Given the description of an element on the screen output the (x, y) to click on. 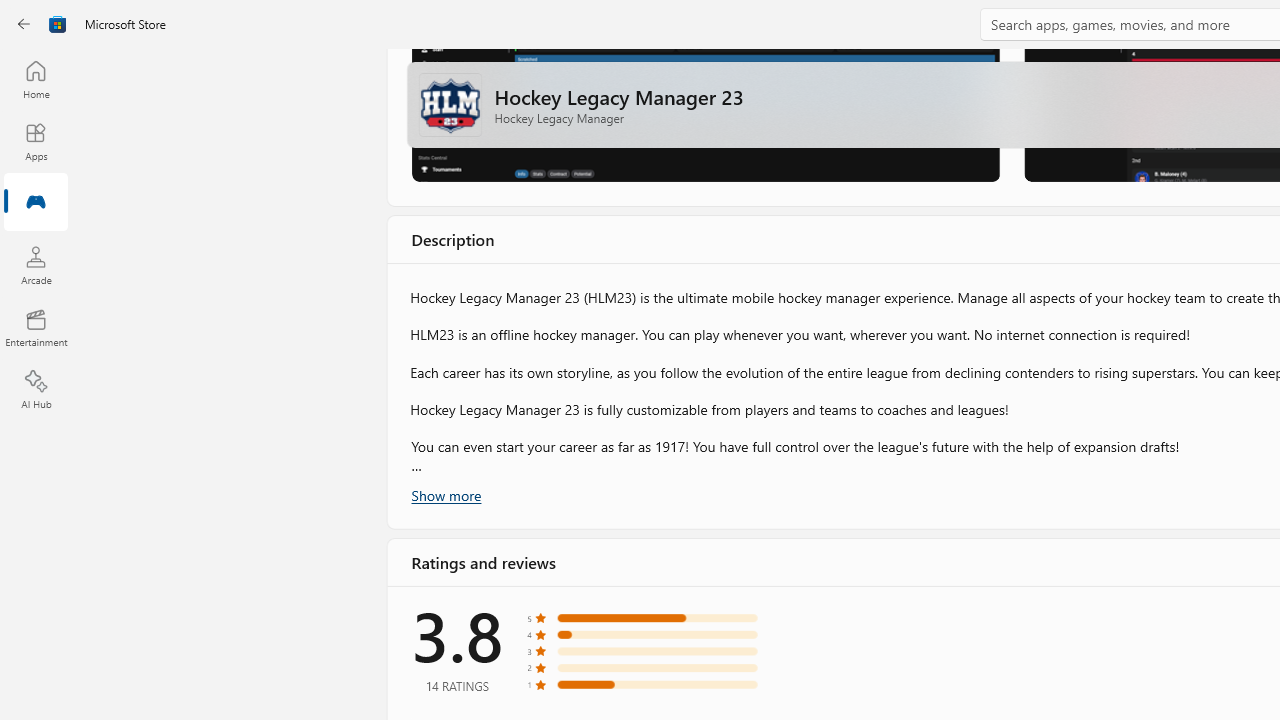
Home (35, 79)
Show more (445, 494)
Back (24, 24)
AI Hub (35, 390)
Apps (35, 141)
Screenshot 1 (704, 114)
Entertainment (35, 327)
Class: Image (58, 24)
Gaming (35, 203)
Arcade (35, 265)
